Given the description of an element on the screen output the (x, y) to click on. 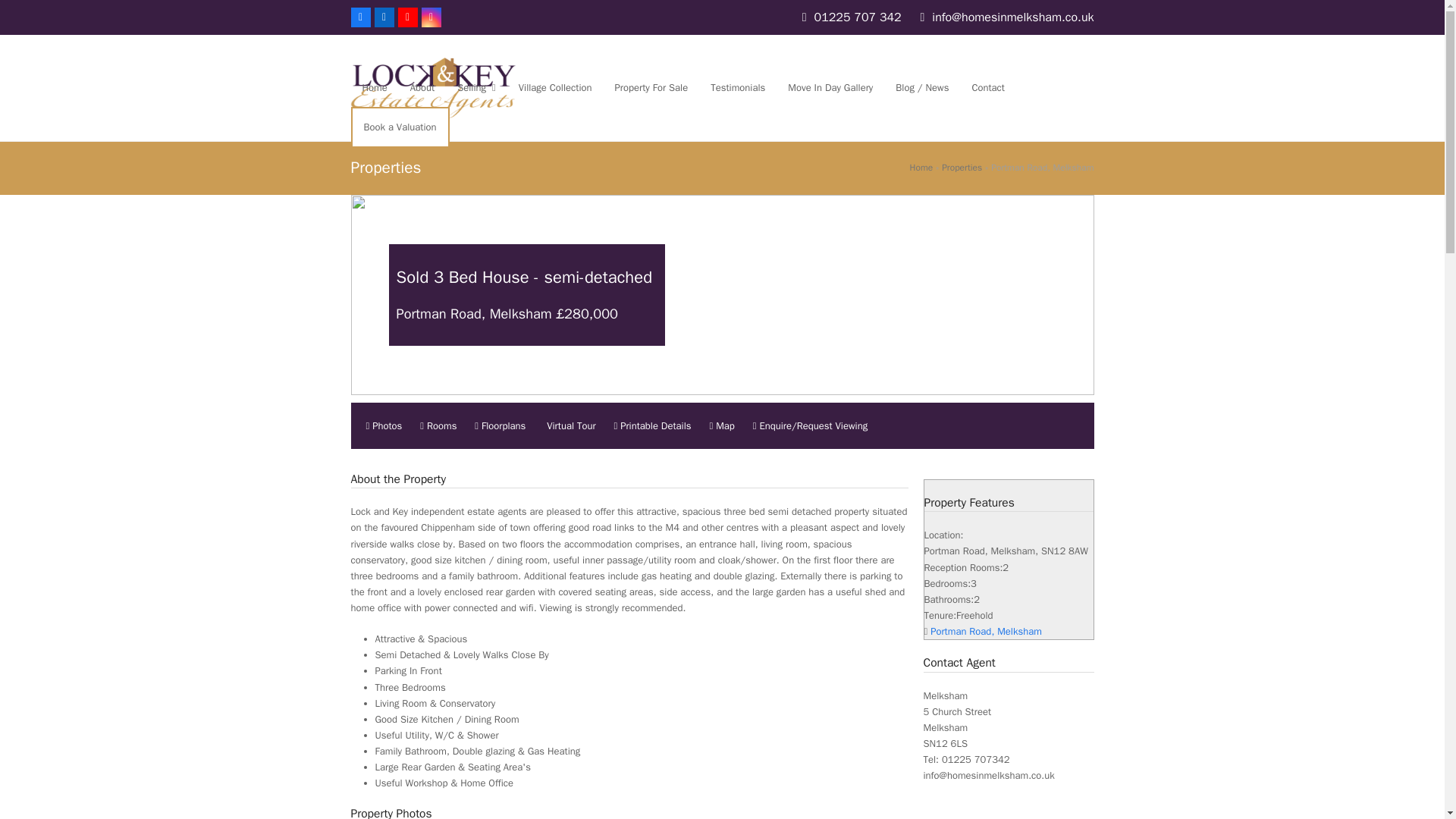
Rooms (438, 425)
Home (373, 87)
Contact (987, 87)
Move In Day Gallery (829, 87)
YouTube (406, 17)
01225 707 342 (857, 17)
Portman Road, Melksham (986, 631)
LinkedIn (384, 17)
Map (721, 425)
Enquire (809, 425)
Home (921, 167)
Rooms (438, 425)
Floorplans (499, 425)
Property For Sale (652, 87)
Book a Valuation (399, 127)
